Given the description of an element on the screen output the (x, y) to click on. 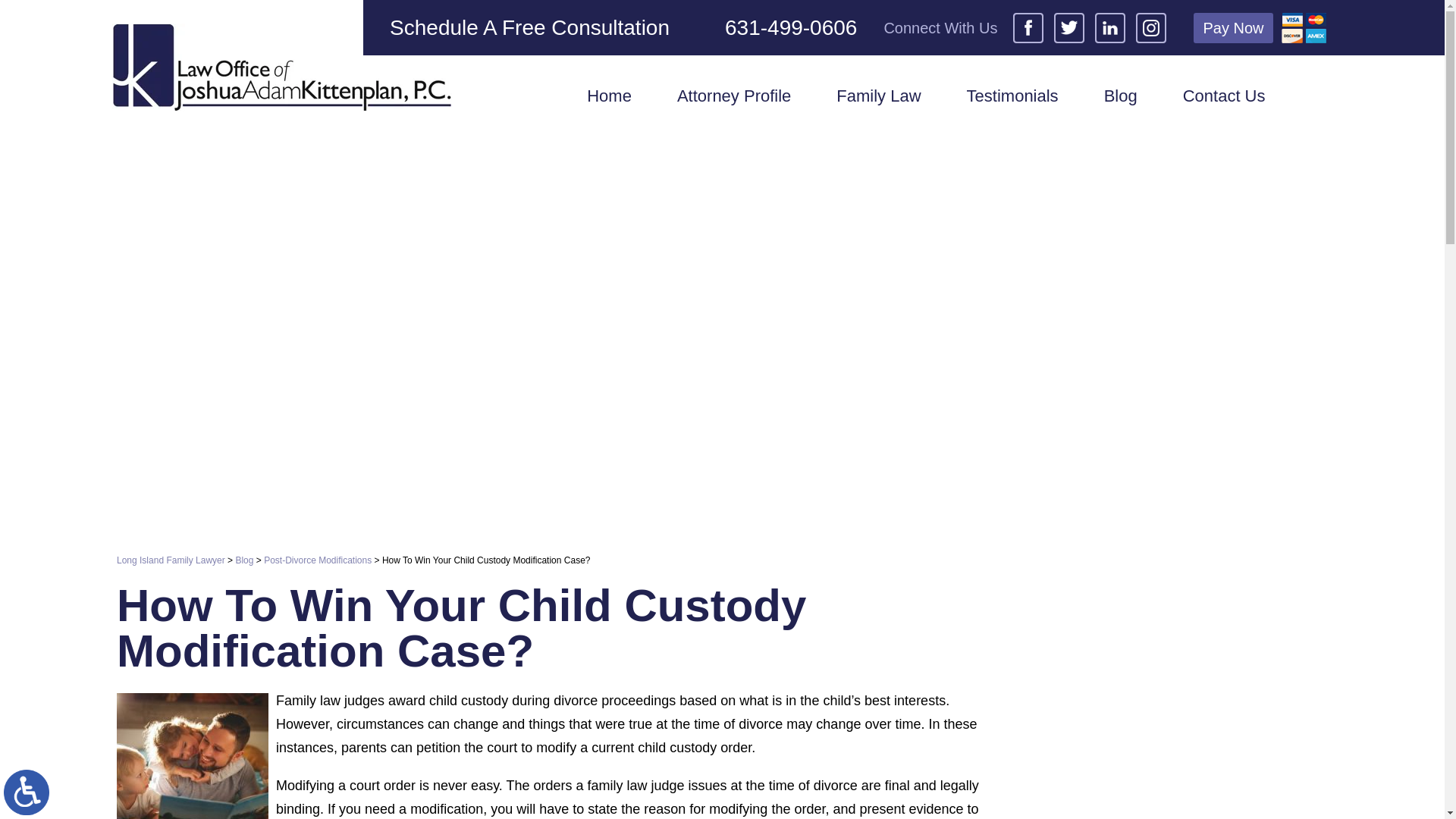
Testimonials (1012, 96)
Attorney Profile (733, 96)
Switch to ADA Accessible Website (26, 791)
631-499-0606 (776, 26)
Family Law (878, 96)
Home (608, 96)
FatherKids (191, 755)
Pay Now (1232, 27)
